Given the description of an element on the screen output the (x, y) to click on. 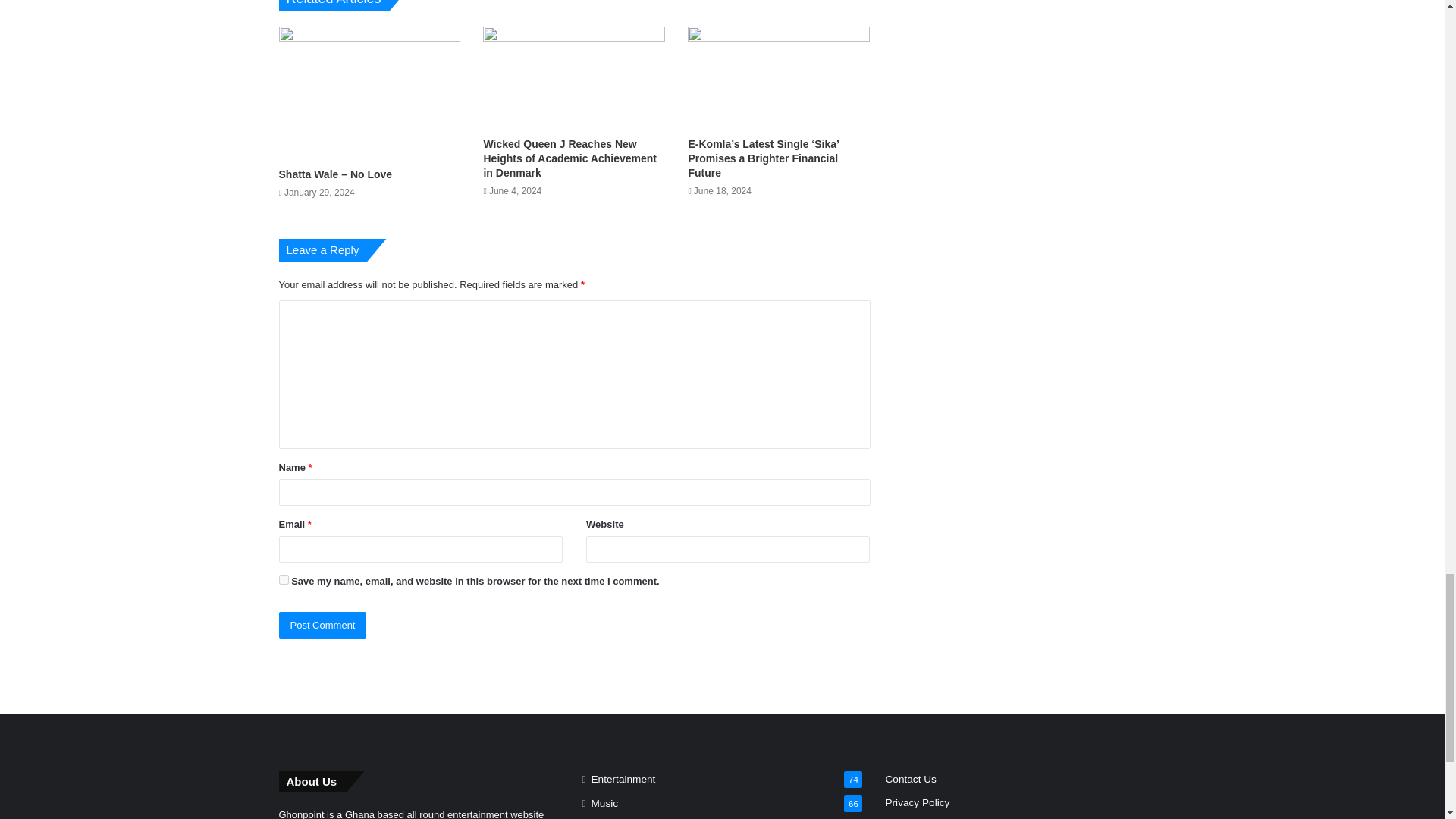
Post Comment (322, 624)
yes (283, 579)
